Given the description of an element on the screen output the (x, y) to click on. 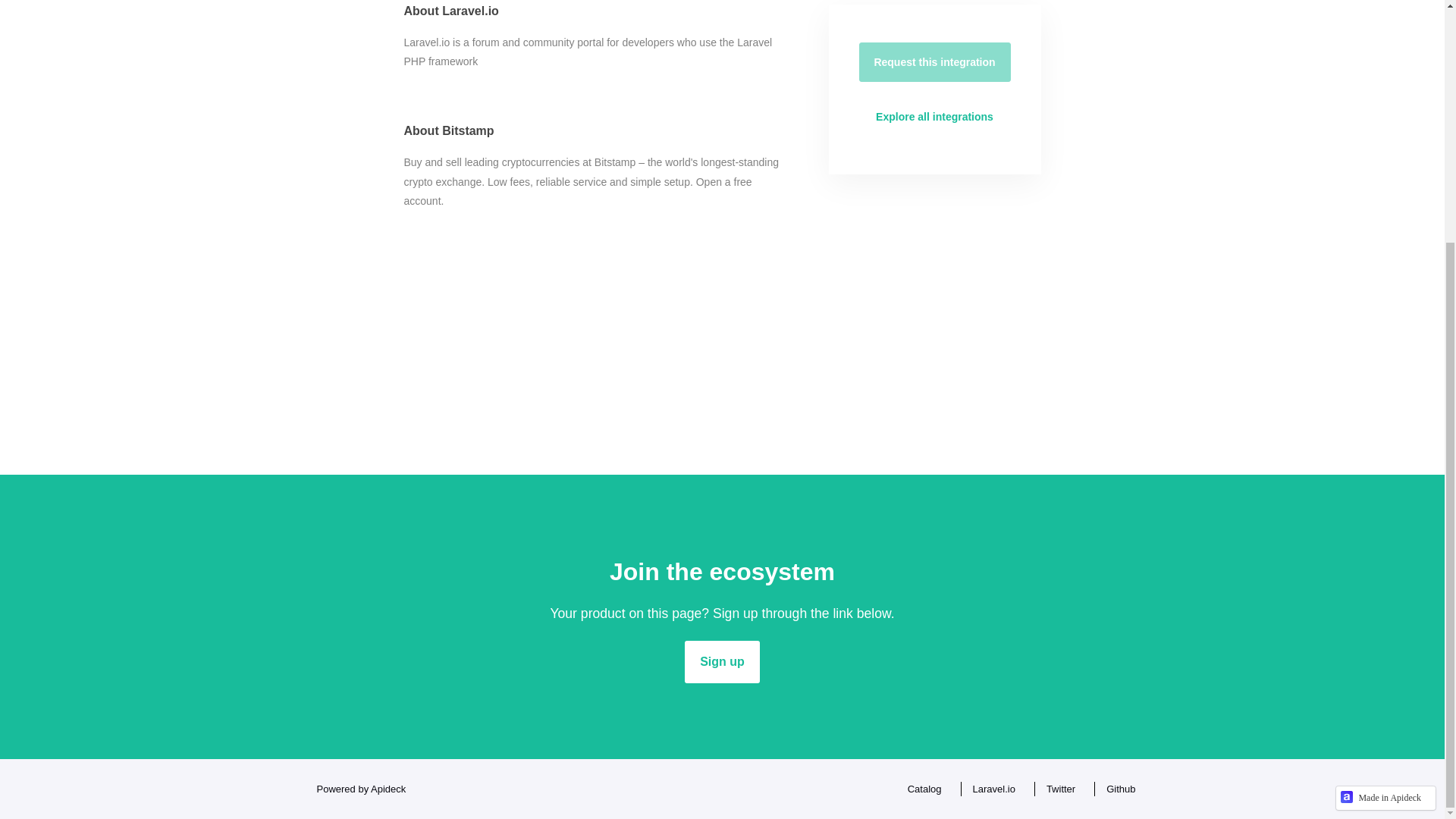
Explore all integrations (934, 116)
Request this integration (934, 61)
Catalog (920, 789)
Twitter (1056, 789)
Laravel.io (989, 789)
Github (1116, 789)
Powered by Apideck (356, 789)
Sign up (722, 661)
